Given the description of an element on the screen output the (x, y) to click on. 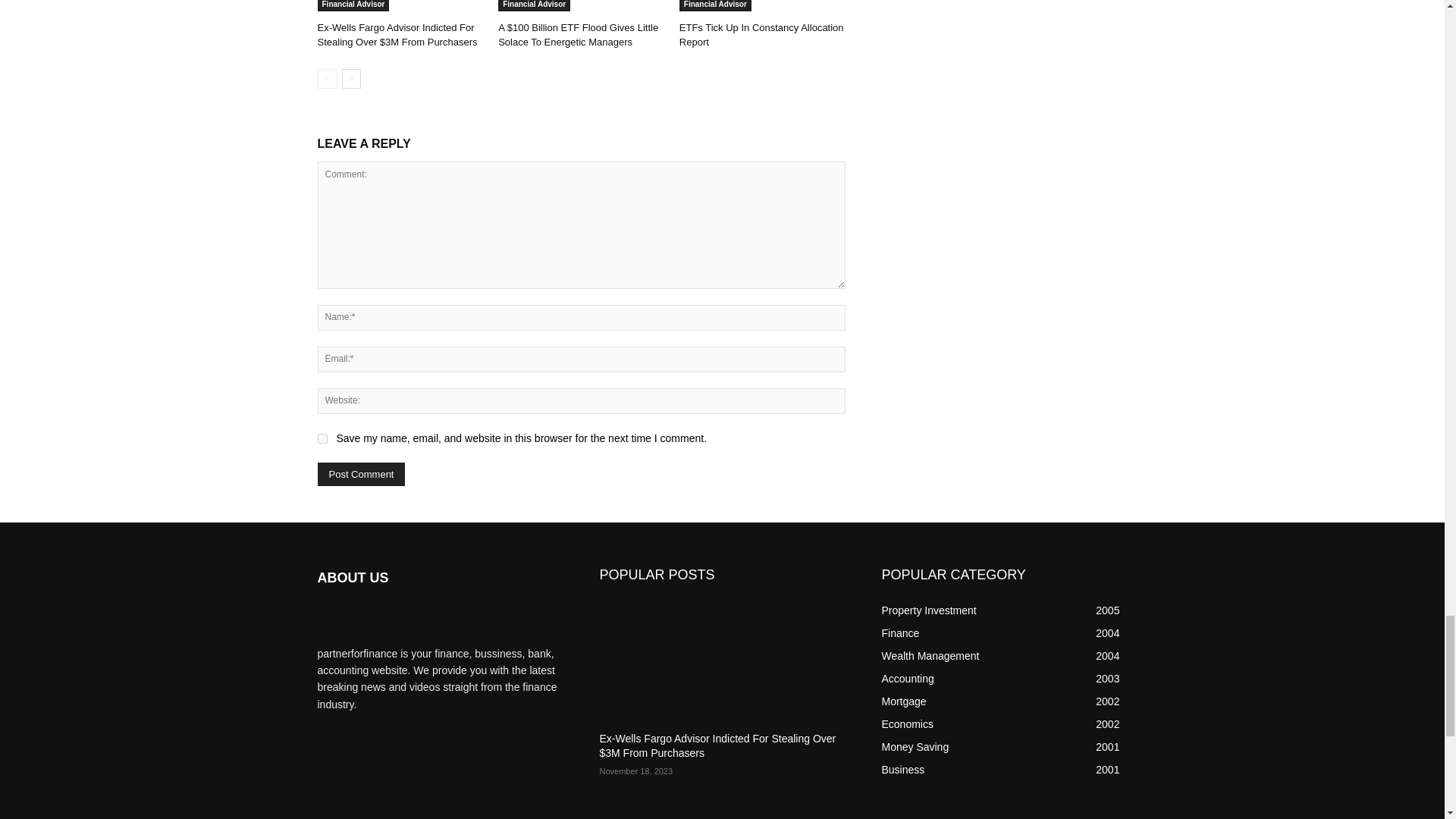
Post Comment (360, 474)
yes (321, 438)
